Given the description of an element on the screen output the (x, y) to click on. 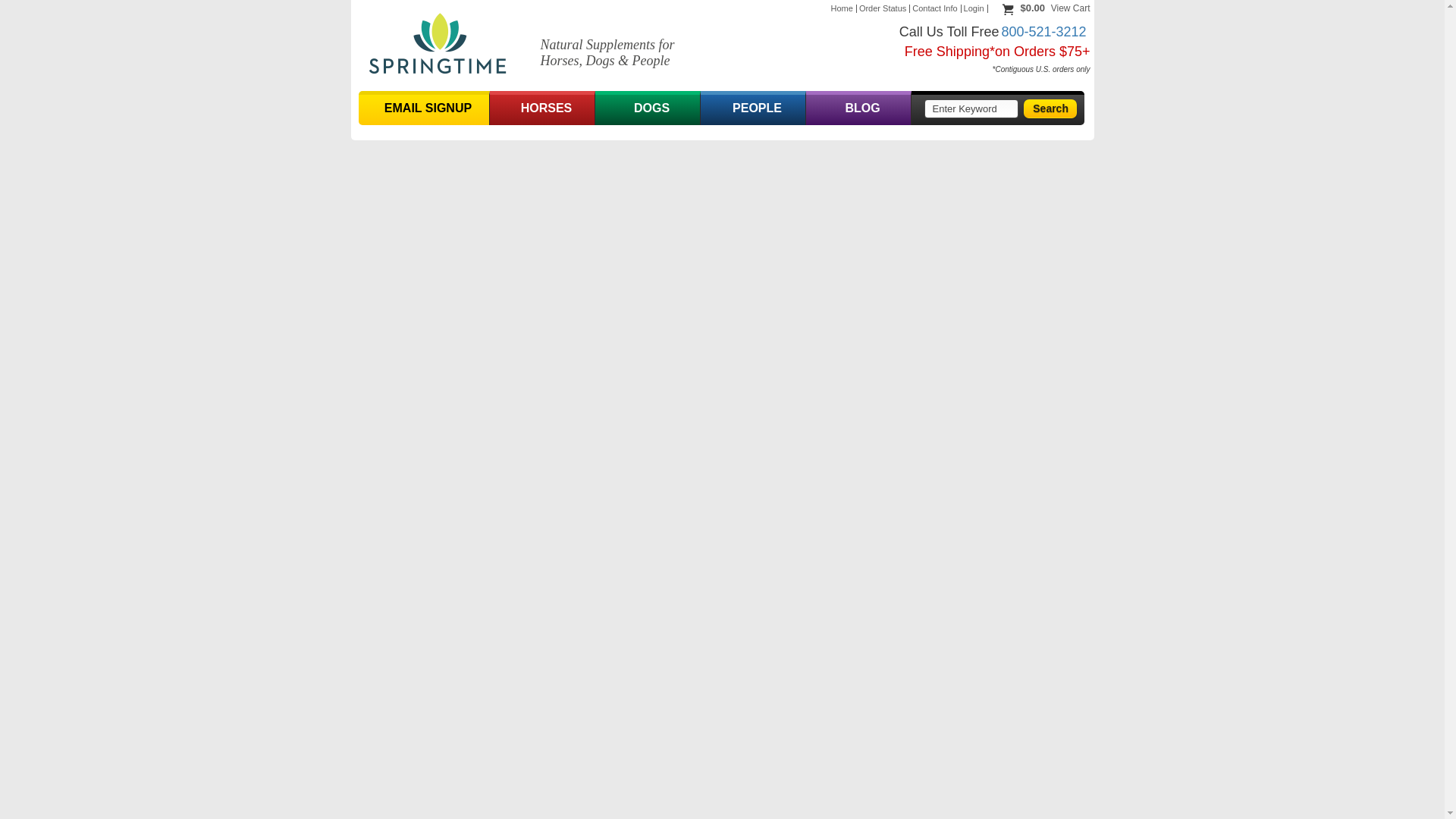
Order Status (883, 8)
Login (975, 8)
Home (843, 8)
Search (1050, 108)
EMAIL SIGNUP (422, 110)
Enter Keyword (970, 108)
View Cart (1070, 8)
HORSES (541, 110)
Search (1050, 108)
Contact Info (935, 8)
